Given the description of an element on the screen output the (x, y) to click on. 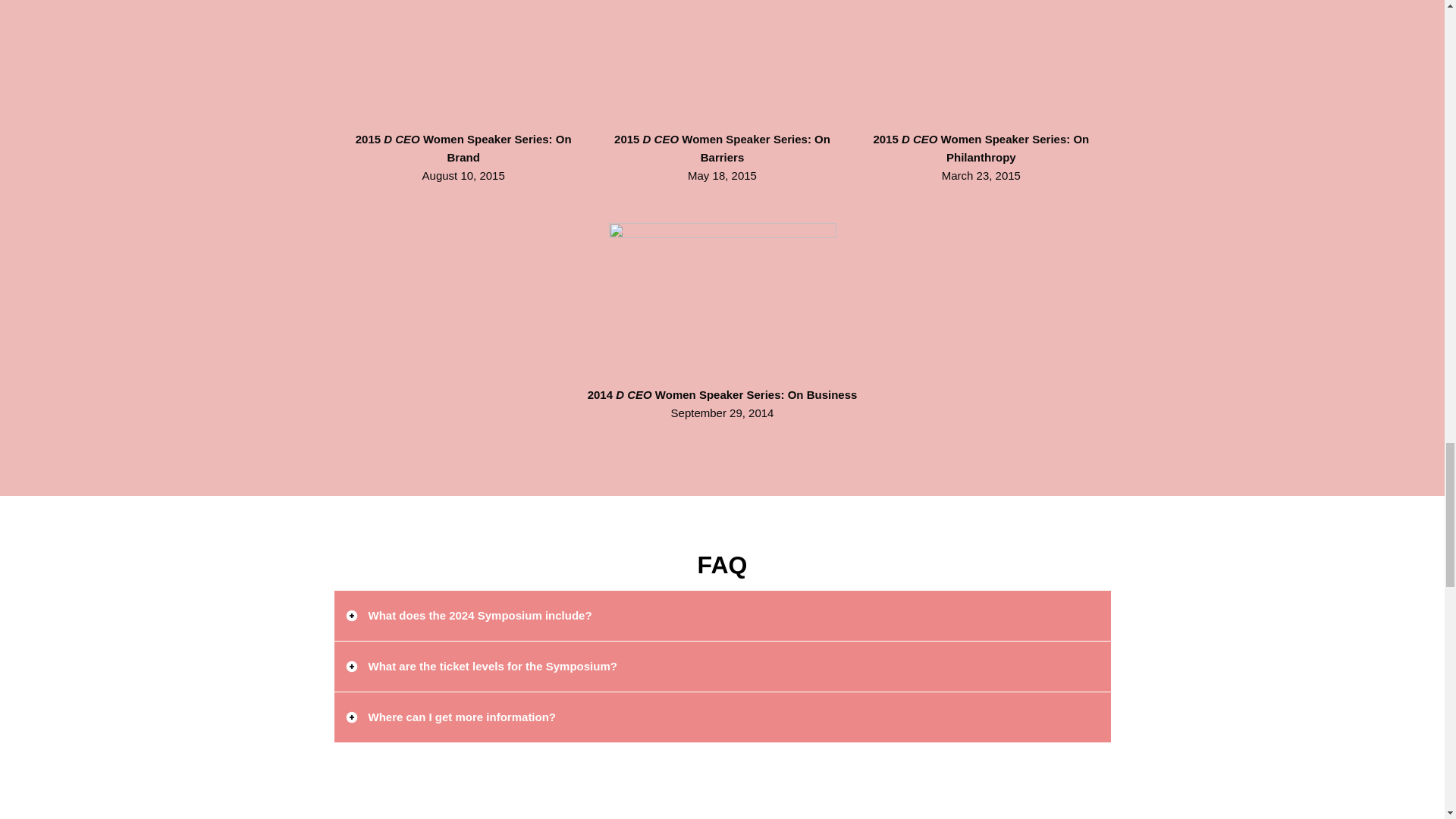
Where can I get more information? (721, 717)
What does the 2024 Symposium include? (721, 615)
What are the ticket levels for the Symposium? (721, 666)
